Given the description of an element on the screen output the (x, y) to click on. 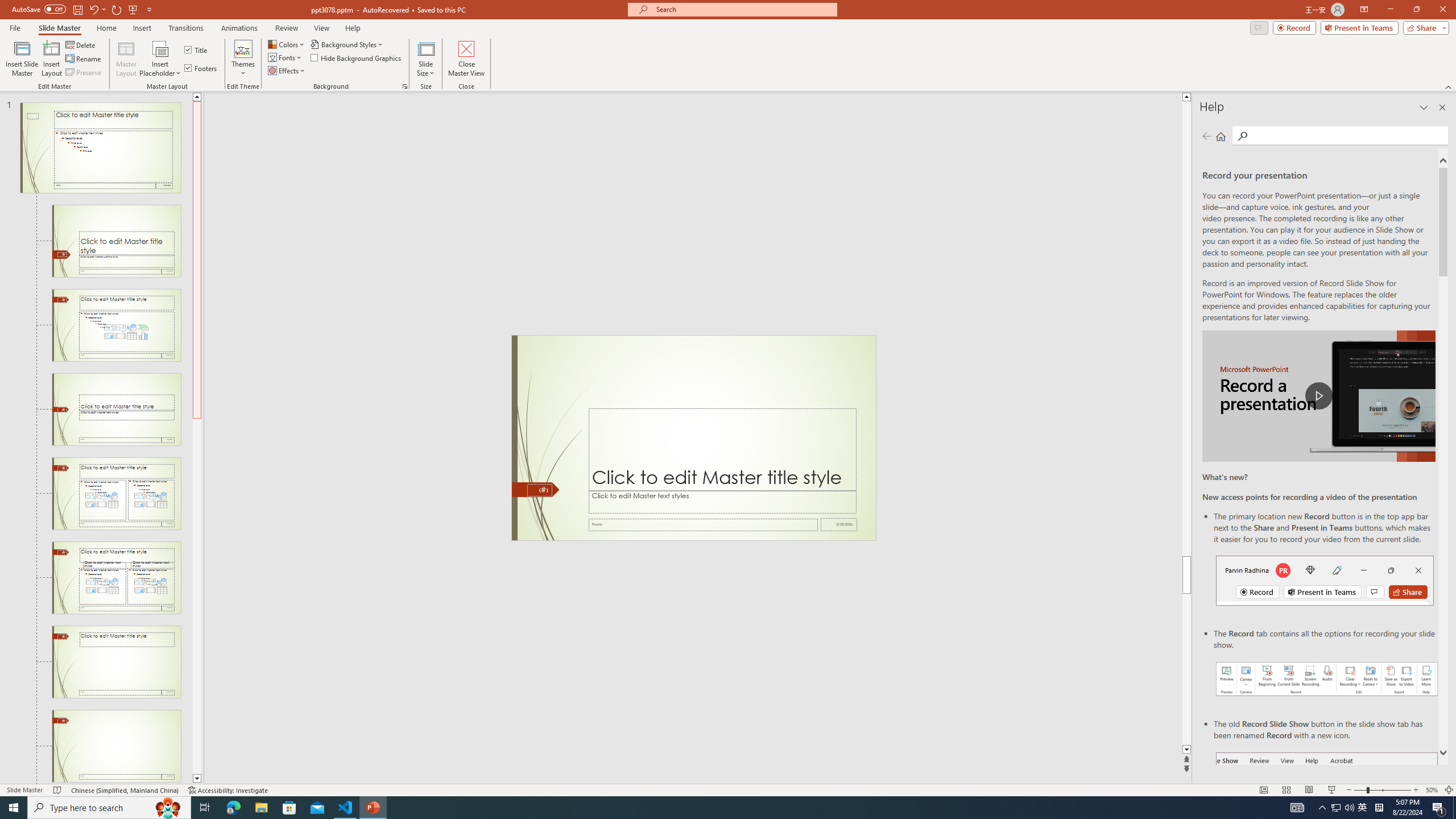
Line down (197, 778)
Slide Size (425, 58)
Master Layout... (126, 58)
Background Styles (347, 44)
Fonts (285, 56)
Slide Wisp Slide Master: used by slide(s) 1 (100, 147)
Preserve (84, 72)
Slide Blank Layout: used by no slides (116, 746)
